Given the description of an element on the screen output the (x, y) to click on. 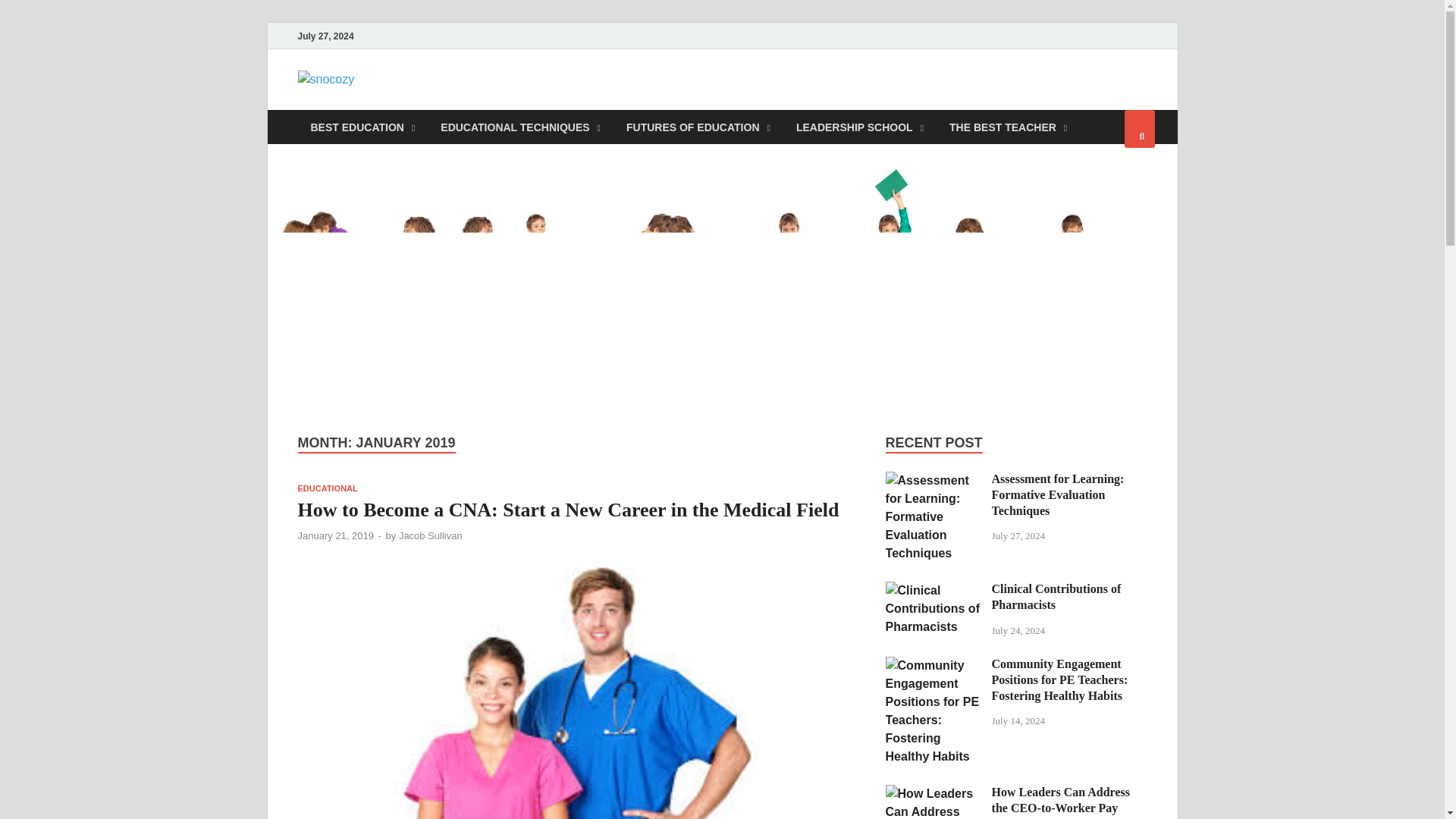
Jacob Sullivan (430, 535)
FUTURES OF EDUCATION (697, 126)
EDUCATIONAL (326, 488)
Clinical Contributions of Pharmacists (932, 590)
Assessment for Learning: Formative Evaluation Techniques (932, 480)
THE BEST TEACHER (1008, 126)
How to Become a CNA: Start a New Career in the Medical Field (567, 509)
LEADERSHIP SCHOOL (859, 126)
EDUCATIONAL TECHNIQUES (520, 126)
